Given the description of an element on the screen output the (x, y) to click on. 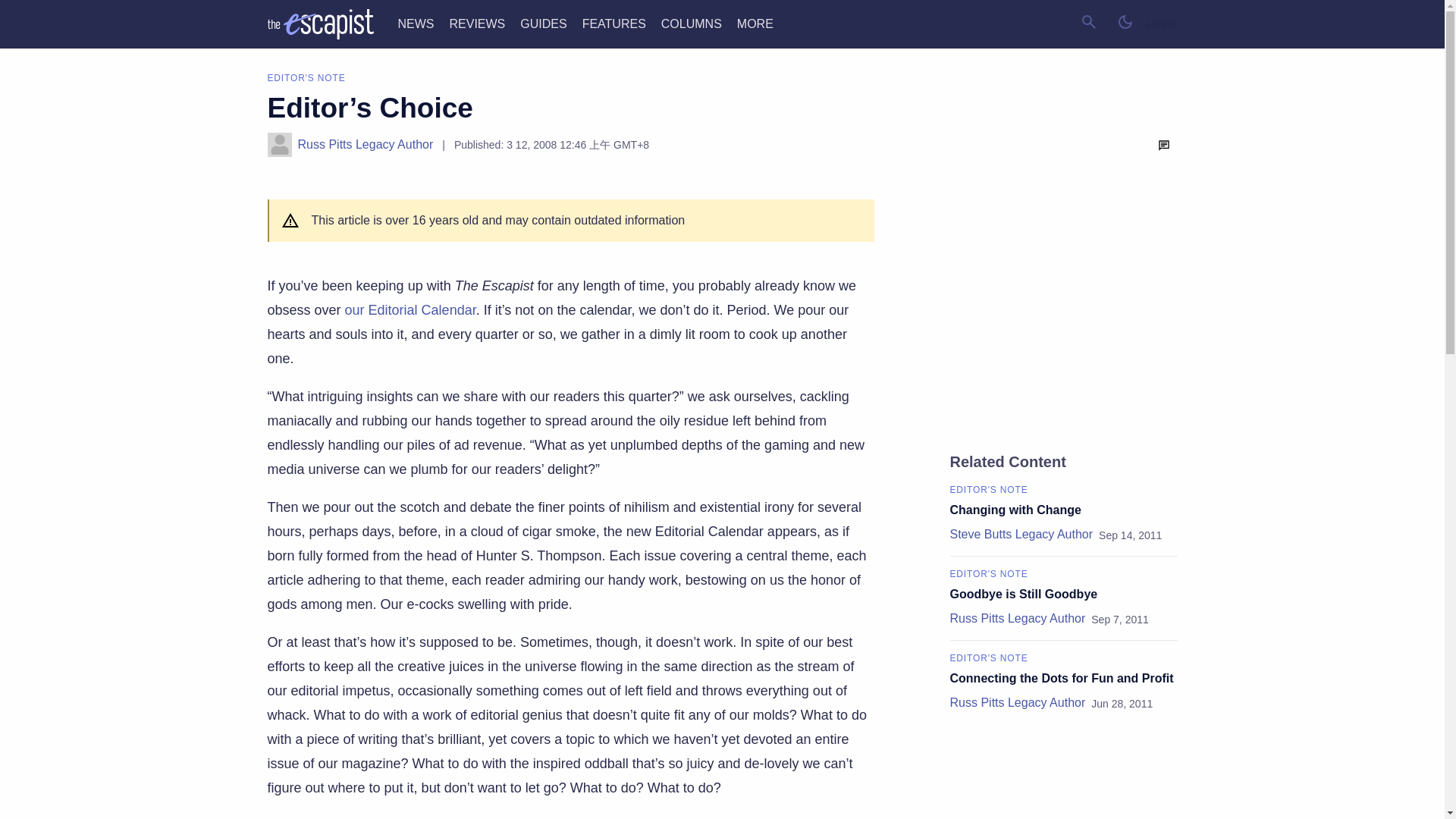
FEATURES (614, 23)
REVIEWS (476, 23)
Dark Mode (1124, 21)
Login (1162, 23)
GUIDES (542, 23)
Search (1088, 21)
NEWS (415, 23)
COLUMNS (691, 23)
